Given the description of an element on the screen output the (x, y) to click on. 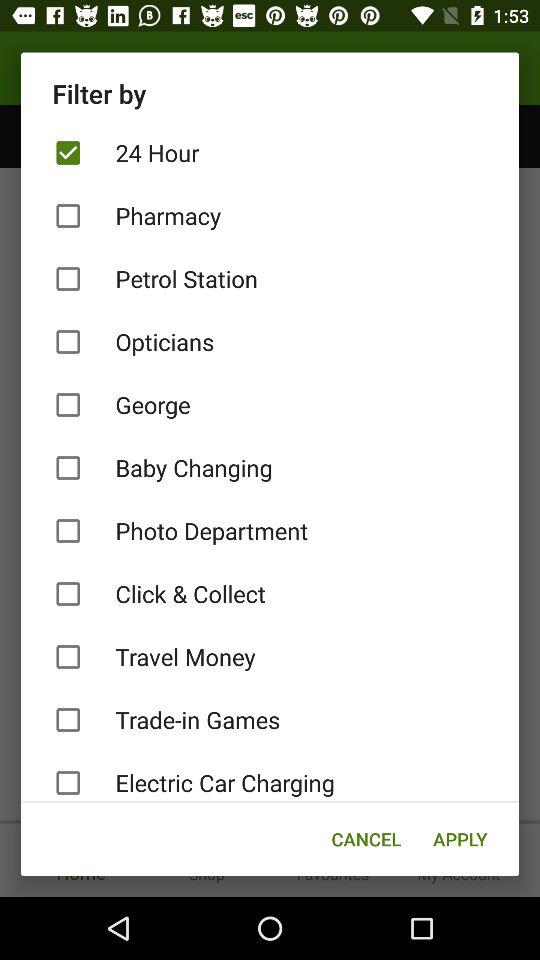
scroll until cancel (366, 838)
